Given the description of an element on the screen output the (x, y) to click on. 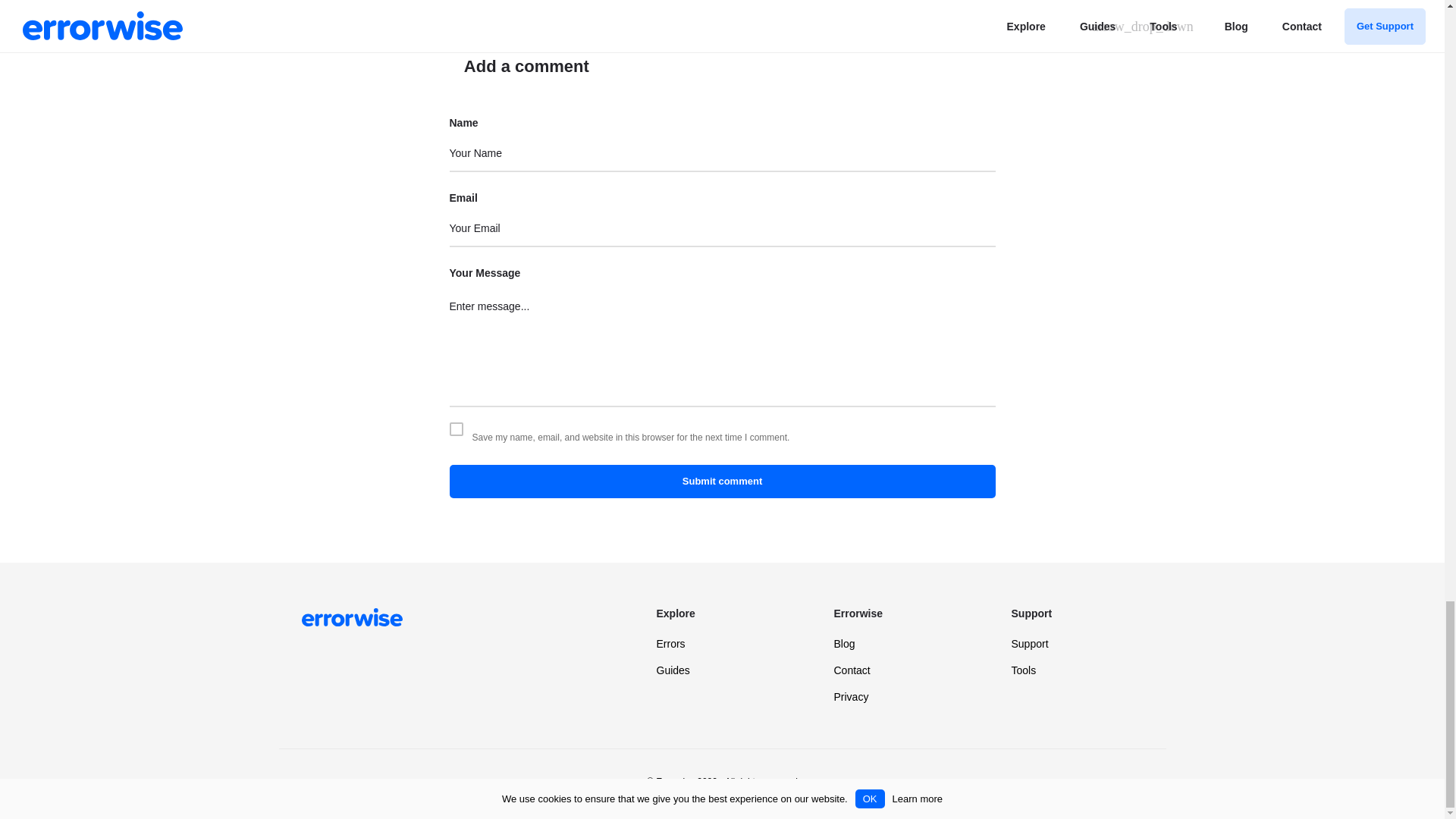
Contact (852, 670)
Errors (670, 644)
Tools (1023, 670)
Submit comment (721, 481)
Privacy (851, 696)
Blog (845, 644)
Guides (673, 670)
Support (1029, 644)
